Given the description of an element on the screen output the (x, y) to click on. 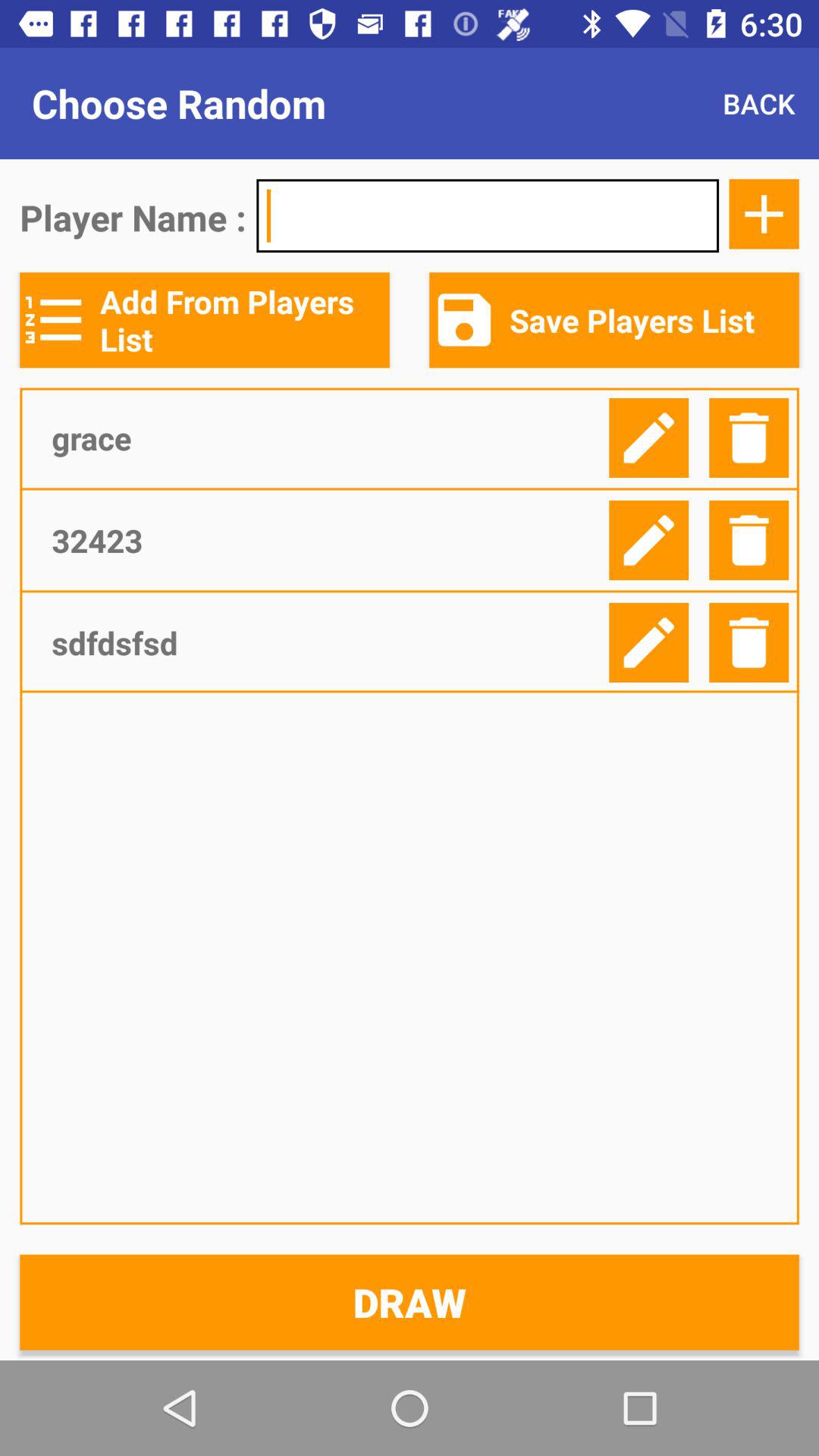
jump to back (758, 103)
